Given the description of an element on the screen output the (x, y) to click on. 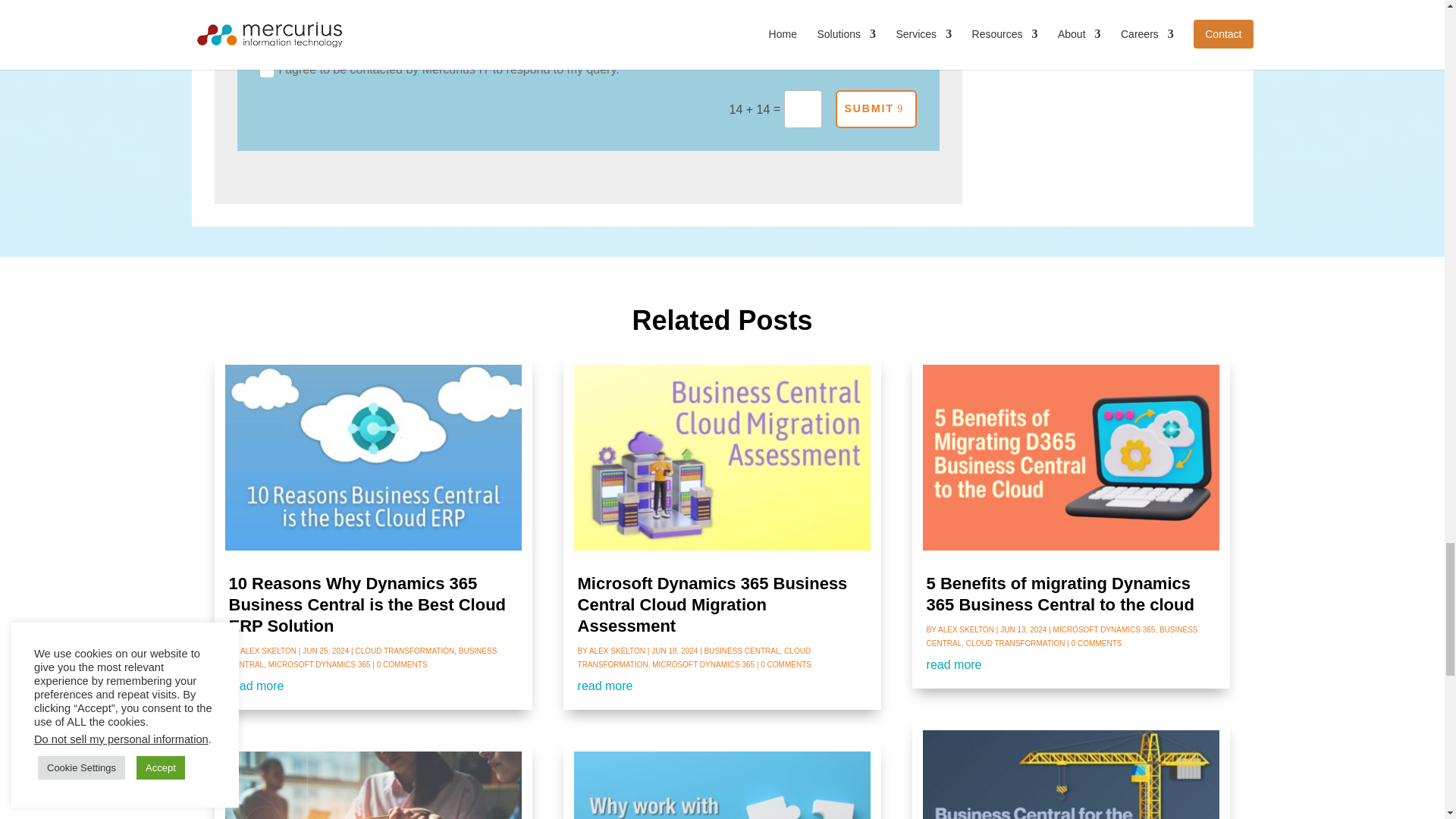
Posts by Alex Skelton (965, 629)
Posts by Alex Skelton (268, 651)
Posts by Alex Skelton (617, 651)
